Given the description of an element on the screen output the (x, y) to click on. 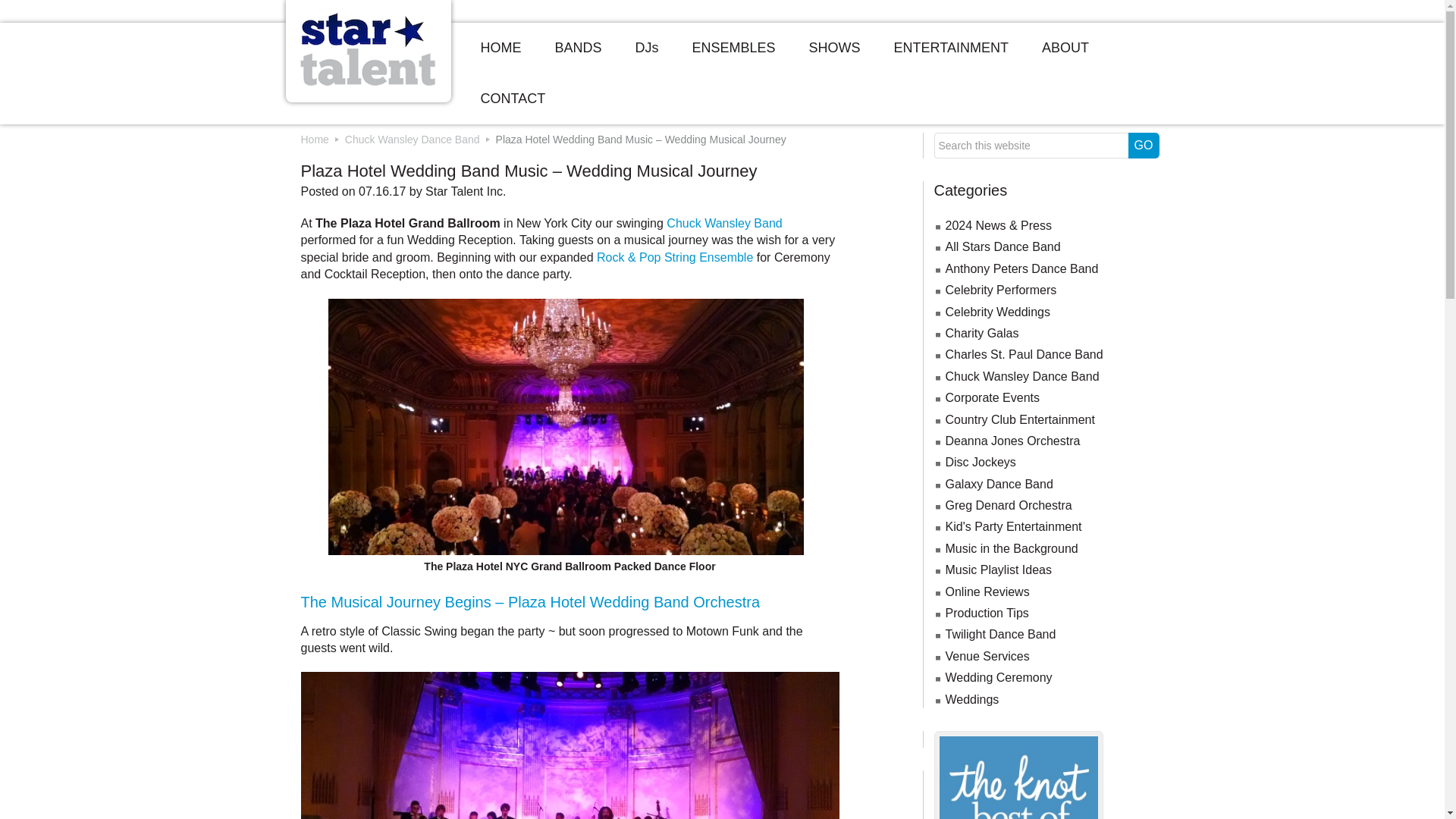
All Stars Dance Band (1001, 246)
Country Club Entertainment (1019, 419)
Anthony Peters Dance Band (1020, 268)
Home (314, 139)
Charles St. Paul Dance Band (1023, 354)
Chuck Wansley Dance Band (1021, 376)
GO (1143, 145)
Star Talent Inc. (465, 191)
CONTACT (513, 98)
GO (1143, 145)
Chuck Wansley Band (723, 223)
GO (1143, 145)
DJs (646, 47)
Celebrity Weddings (996, 311)
Chuck Wansley Dance Band (412, 139)
